Given the description of an element on the screen output the (x, y) to click on. 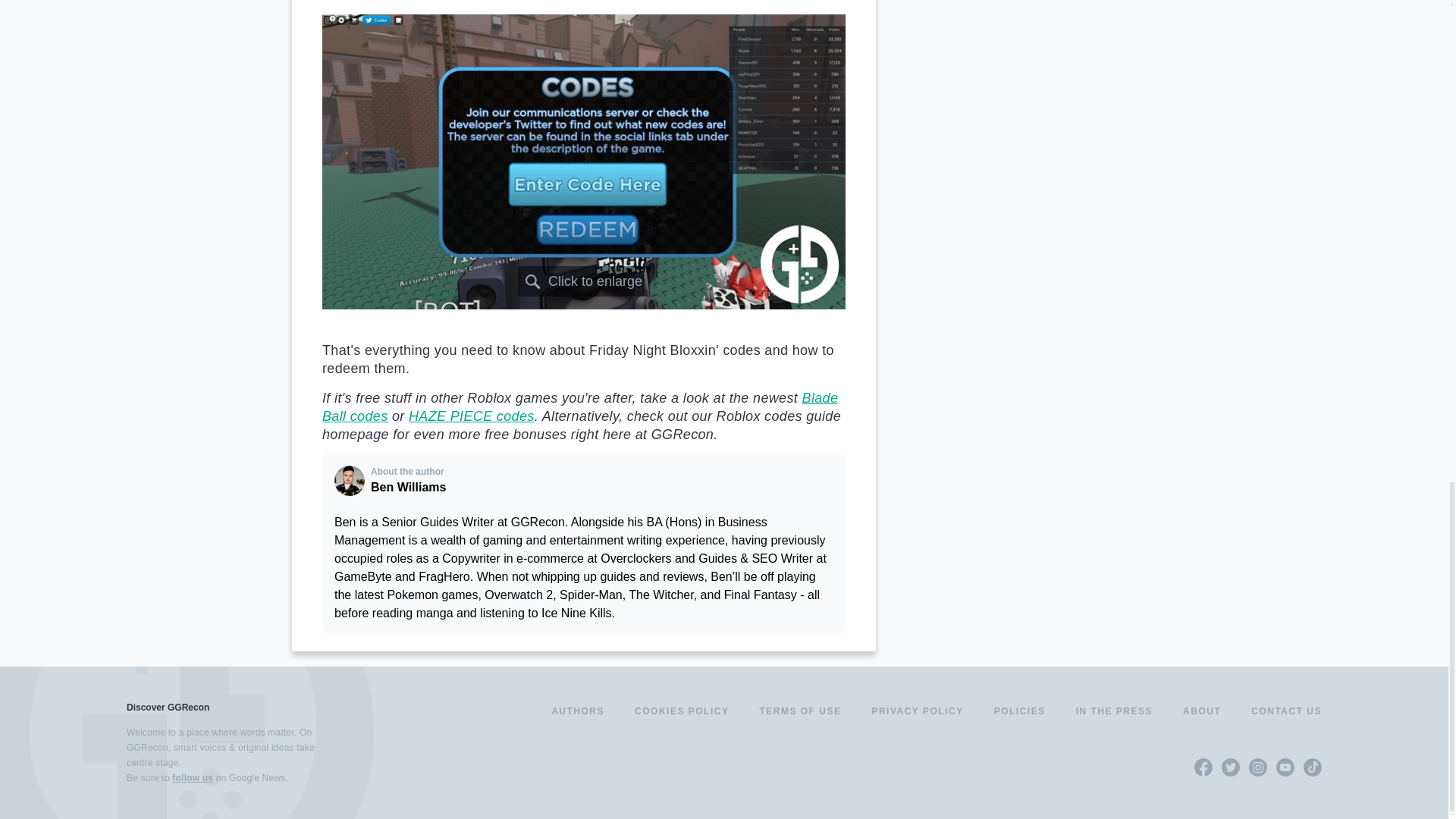
tiktokLink (1312, 767)
instagramLink (1257, 767)
twitterLink (1230, 767)
Ben Williams (349, 481)
facebookLink (1202, 767)
youtubeLink (1285, 767)
